Given the description of an element on the screen output the (x, y) to click on. 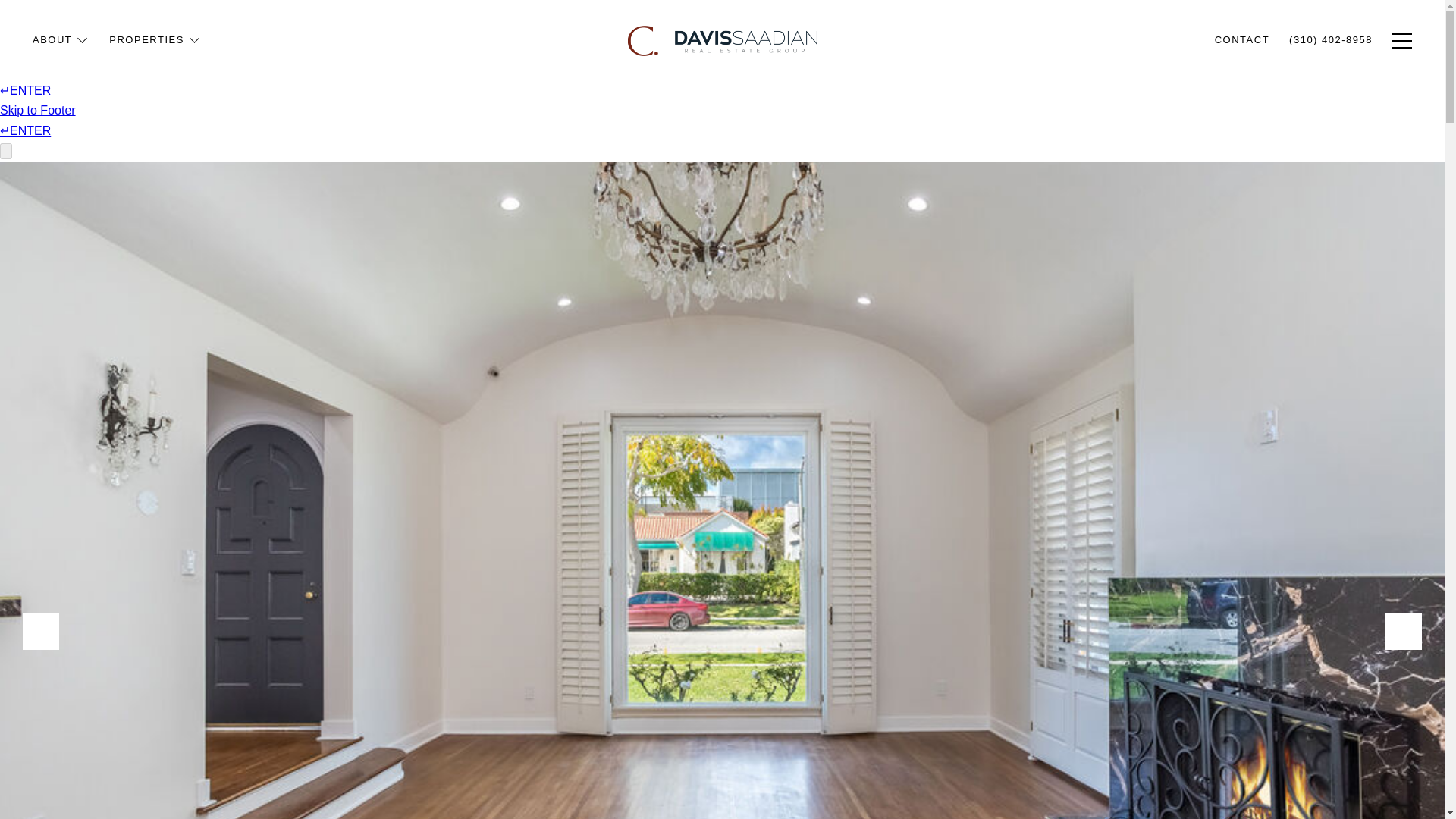
CONTACT (1242, 51)
ABOUT (61, 79)
PROPERTIES (155, 65)
